Given the description of an element on the screen output the (x, y) to click on. 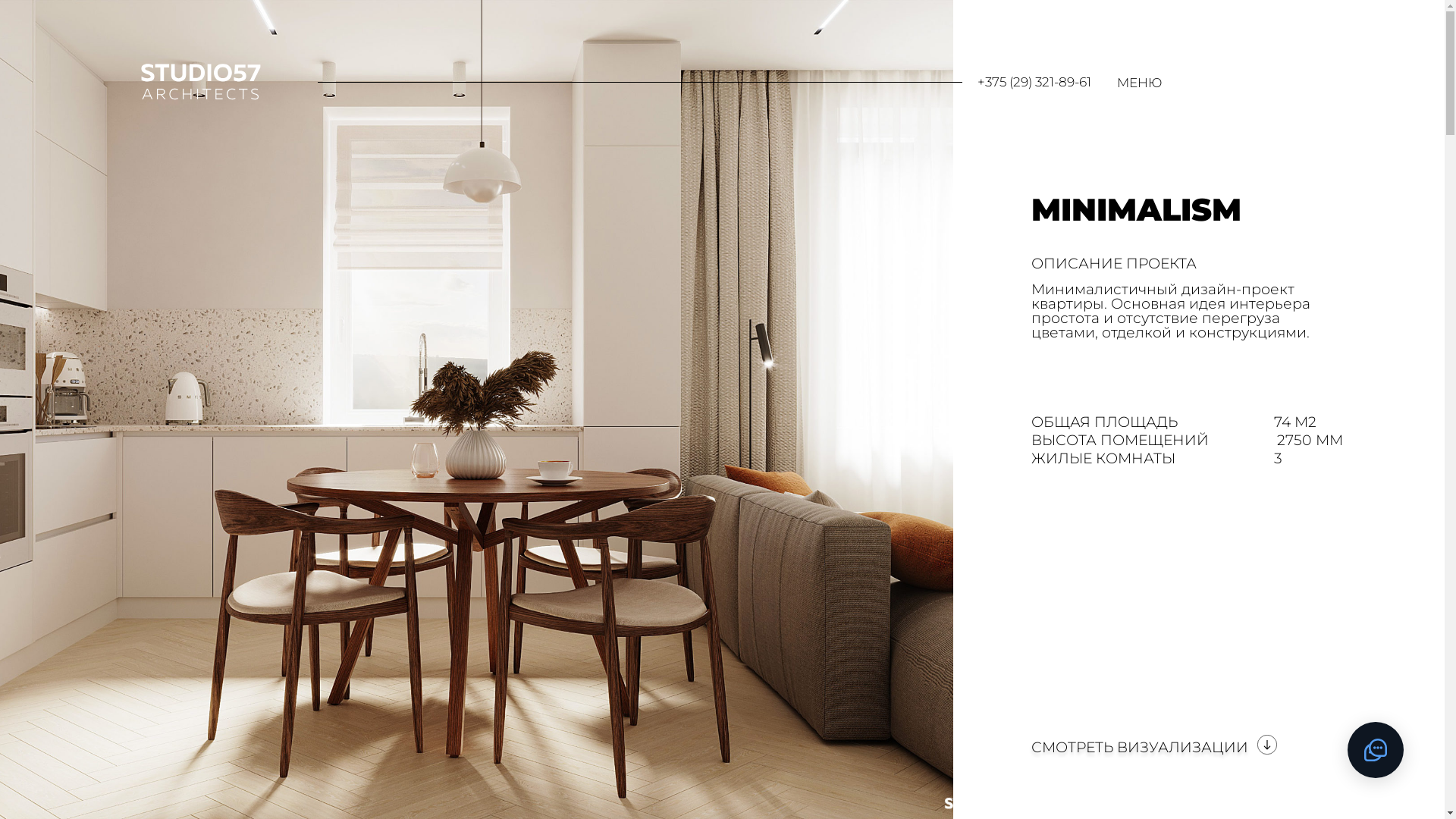
+375 (29) 321-89-61 Element type: text (1034, 81)
